Given the description of an element on the screen output the (x, y) to click on. 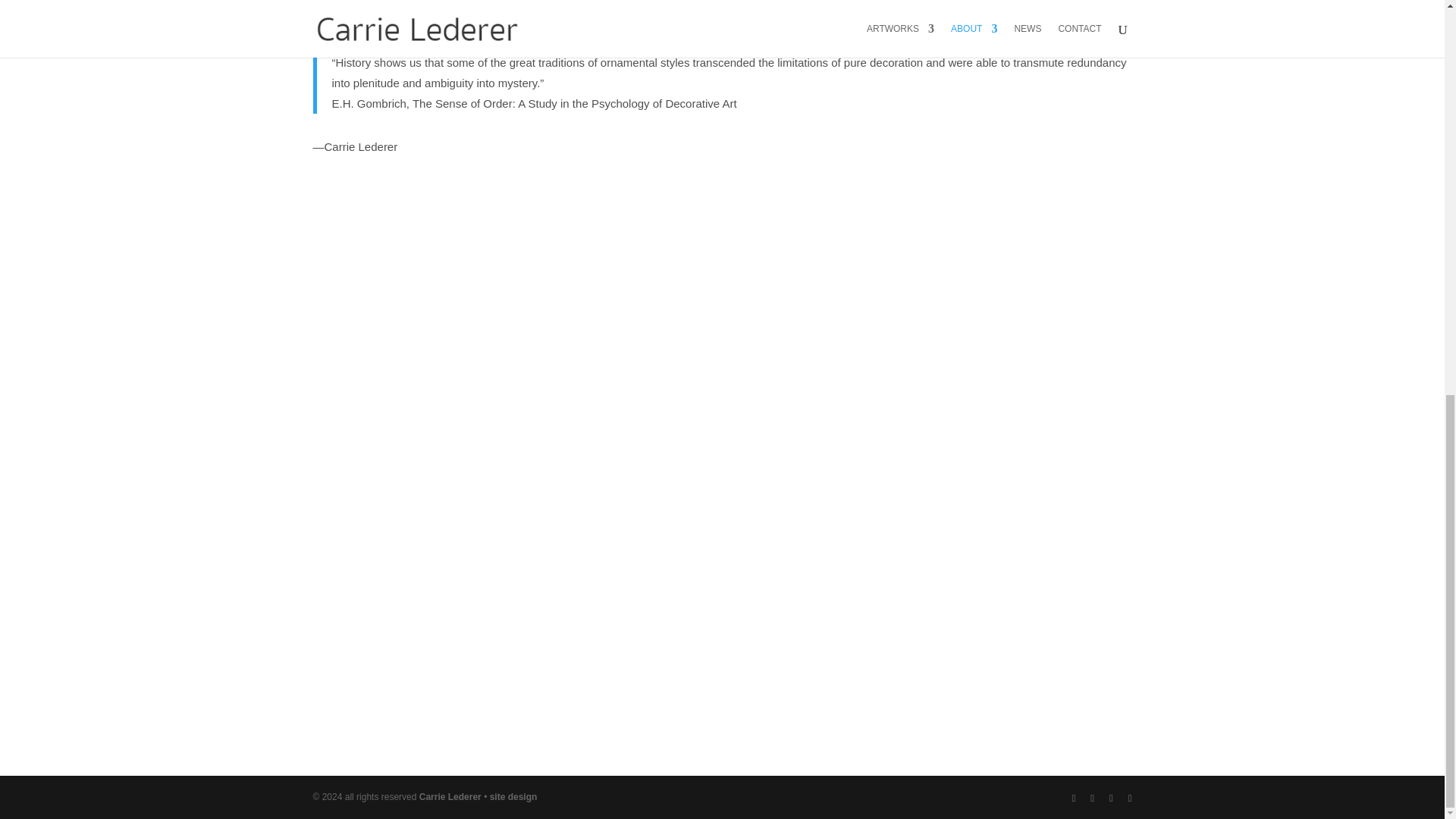
Carrie Lederer (450, 796)
site design (513, 796)
Carrie Lederer (450, 796)
